Given the description of an element on the screen output the (x, y) to click on. 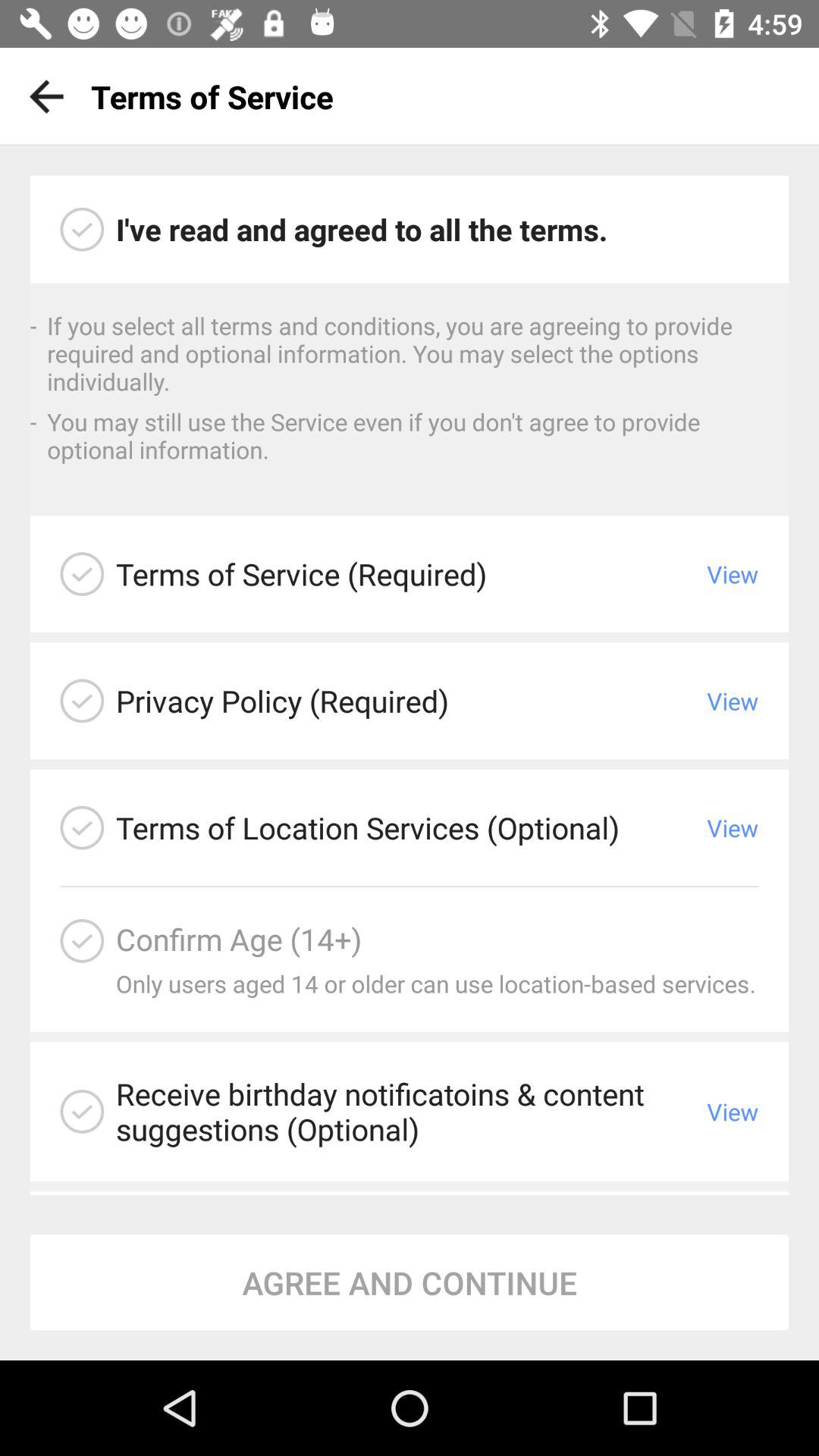
the option pointing agreed terms and conditions (82, 229)
